Given the description of an element on the screen output the (x, y) to click on. 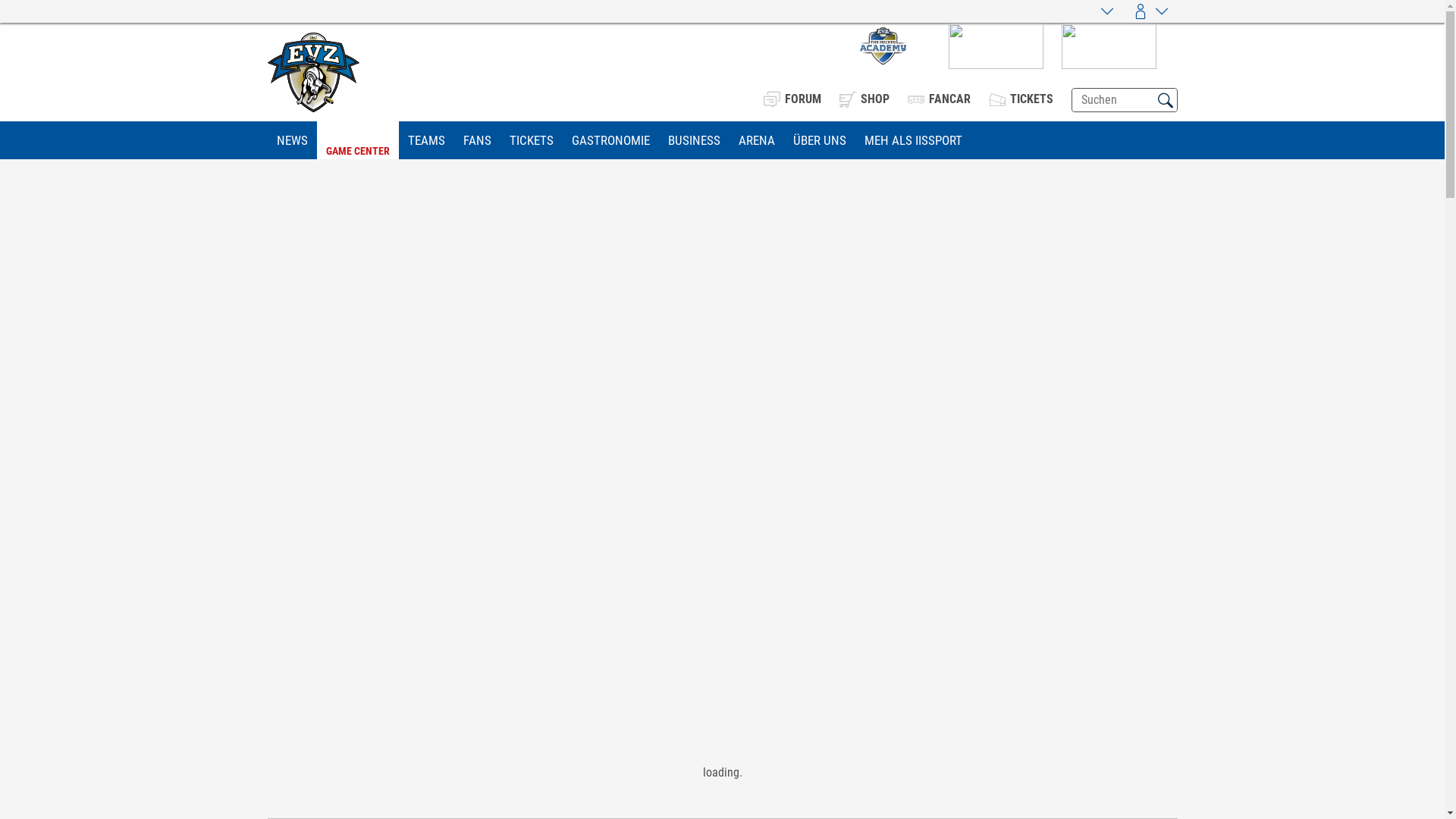
FANS Element type: text (476, 140)
MEH ALS IISSPORT Element type: text (913, 140)
SHOP Element type: text (863, 98)
TEAMS Element type: text (426, 140)
NEWS Element type: text (291, 140)
BUSINESS Element type: text (693, 140)
TICKETS Element type: text (531, 140)
GASTRONOMIE Element type: text (610, 140)
FANCAR Element type: text (937, 98)
National League Element type: hover (721, 772)
ARENA Element type: text (756, 140)
FORUM Element type: text (791, 98)
GAME CENTER Element type: text (357, 140)
TICKETS Element type: text (1020, 98)
